Given the description of an element on the screen output the (x, y) to click on. 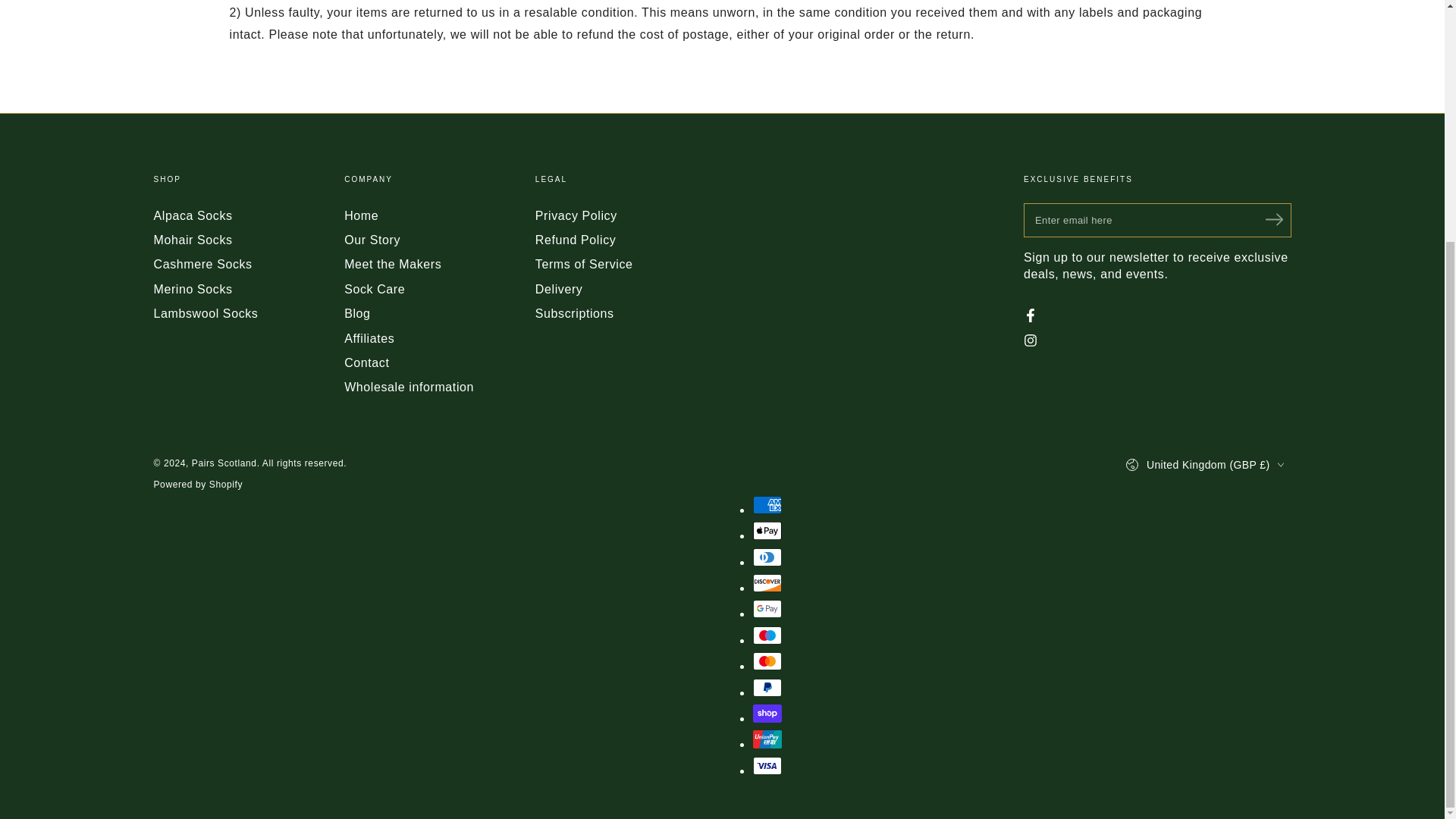
Mastercard (766, 660)
Visa (766, 765)
Union Pay (766, 739)
Maestro (766, 635)
Diners Club (766, 556)
American Express (766, 505)
PayPal (766, 687)
Apple Pay (766, 530)
Shop Pay (766, 713)
Discover (766, 583)
